Given the description of an element on the screen output the (x, y) to click on. 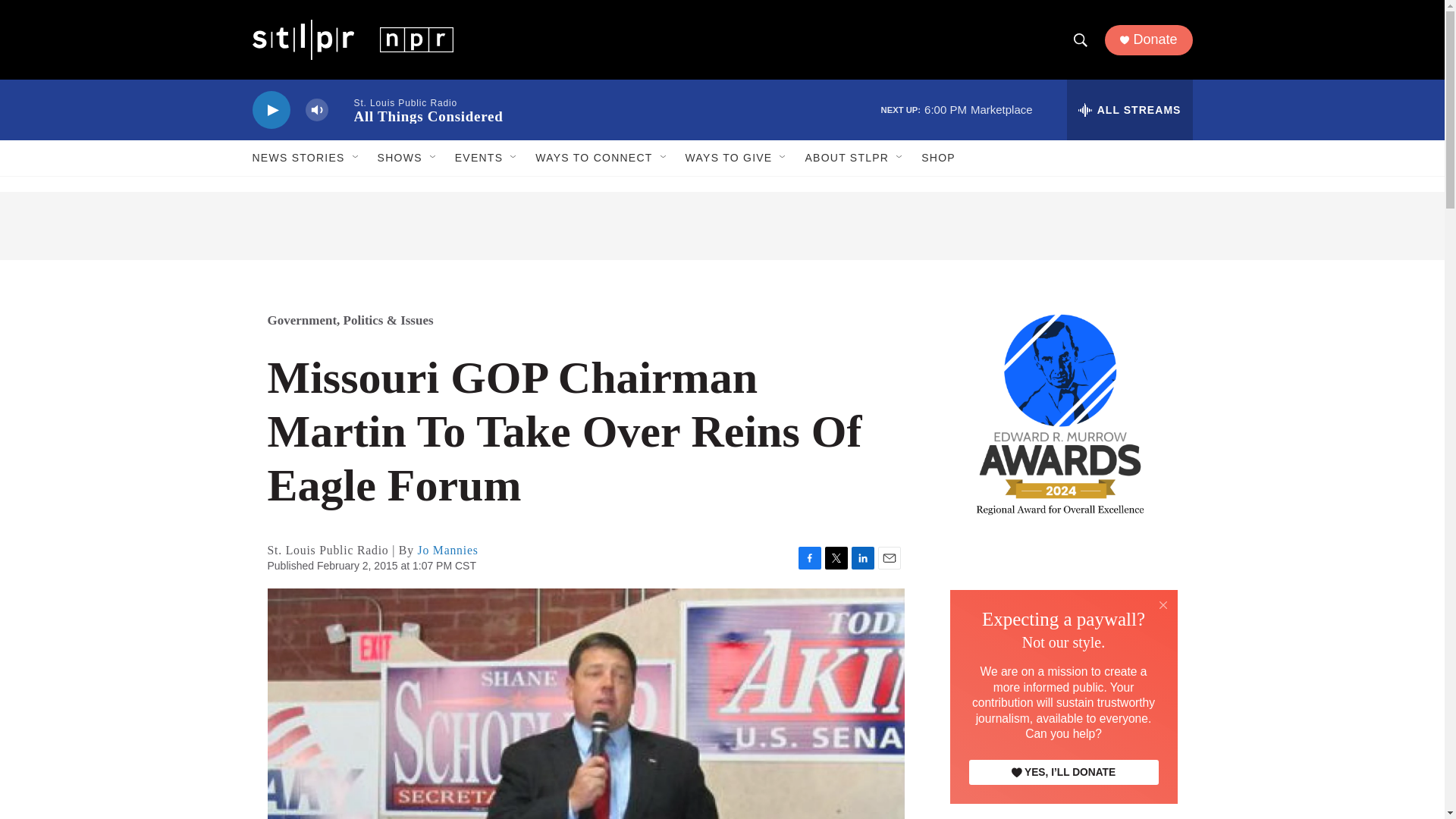
3rd party ad content (721, 225)
3rd party ad content (1062, 797)
3rd party ad content (1062, 651)
Close (1162, 604)
Close (1162, 605)
